Given the description of an element on the screen output the (x, y) to click on. 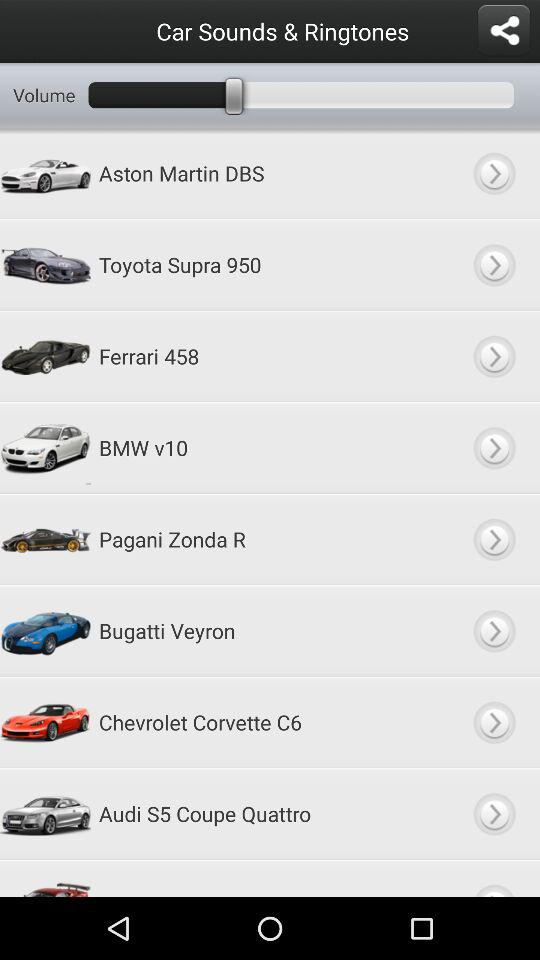
setting (503, 31)
